Given the description of an element on the screen output the (x, y) to click on. 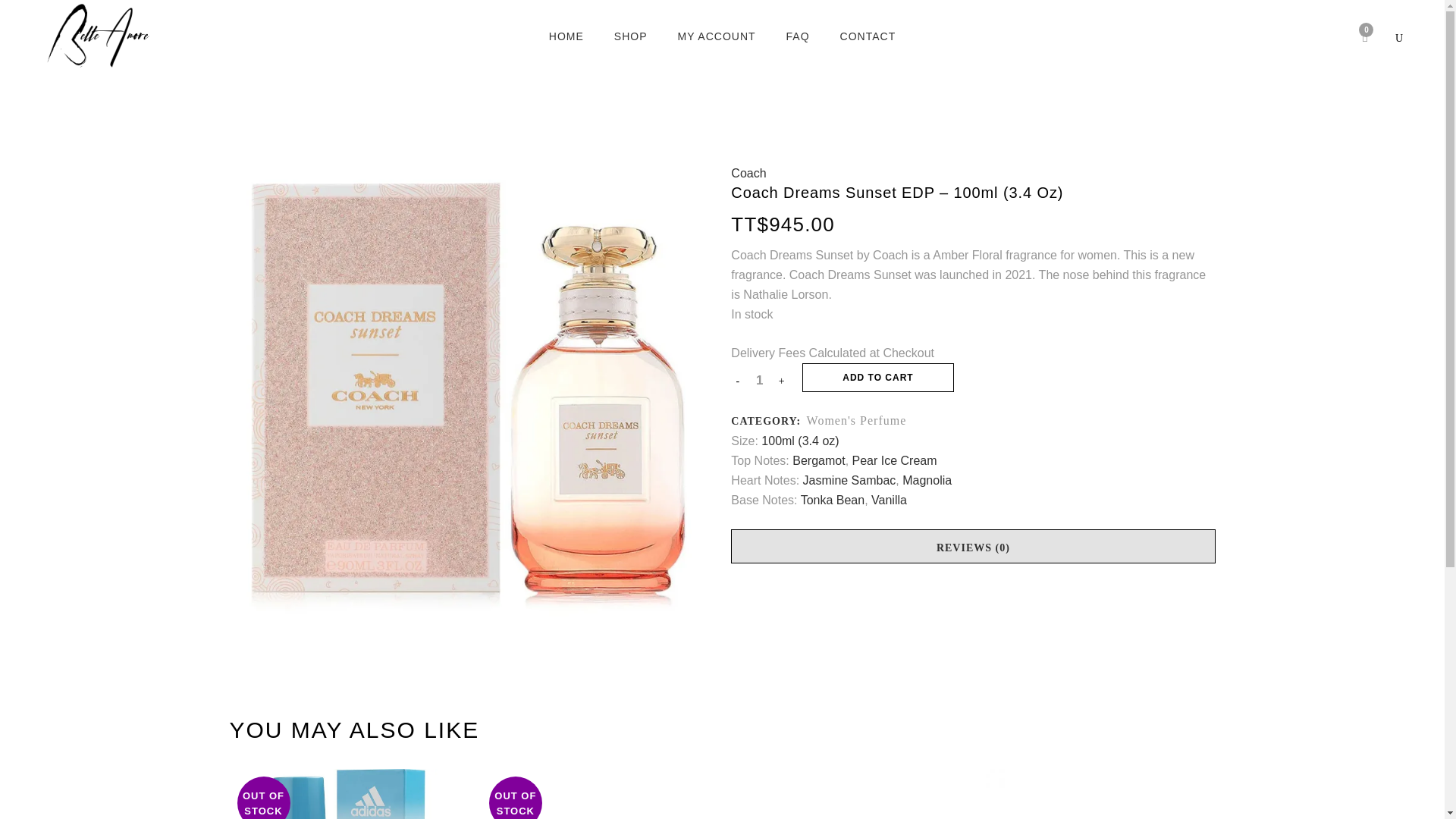
1 (759, 380)
View brand (747, 173)
- (737, 380)
